Given the description of an element on the screen output the (x, y) to click on. 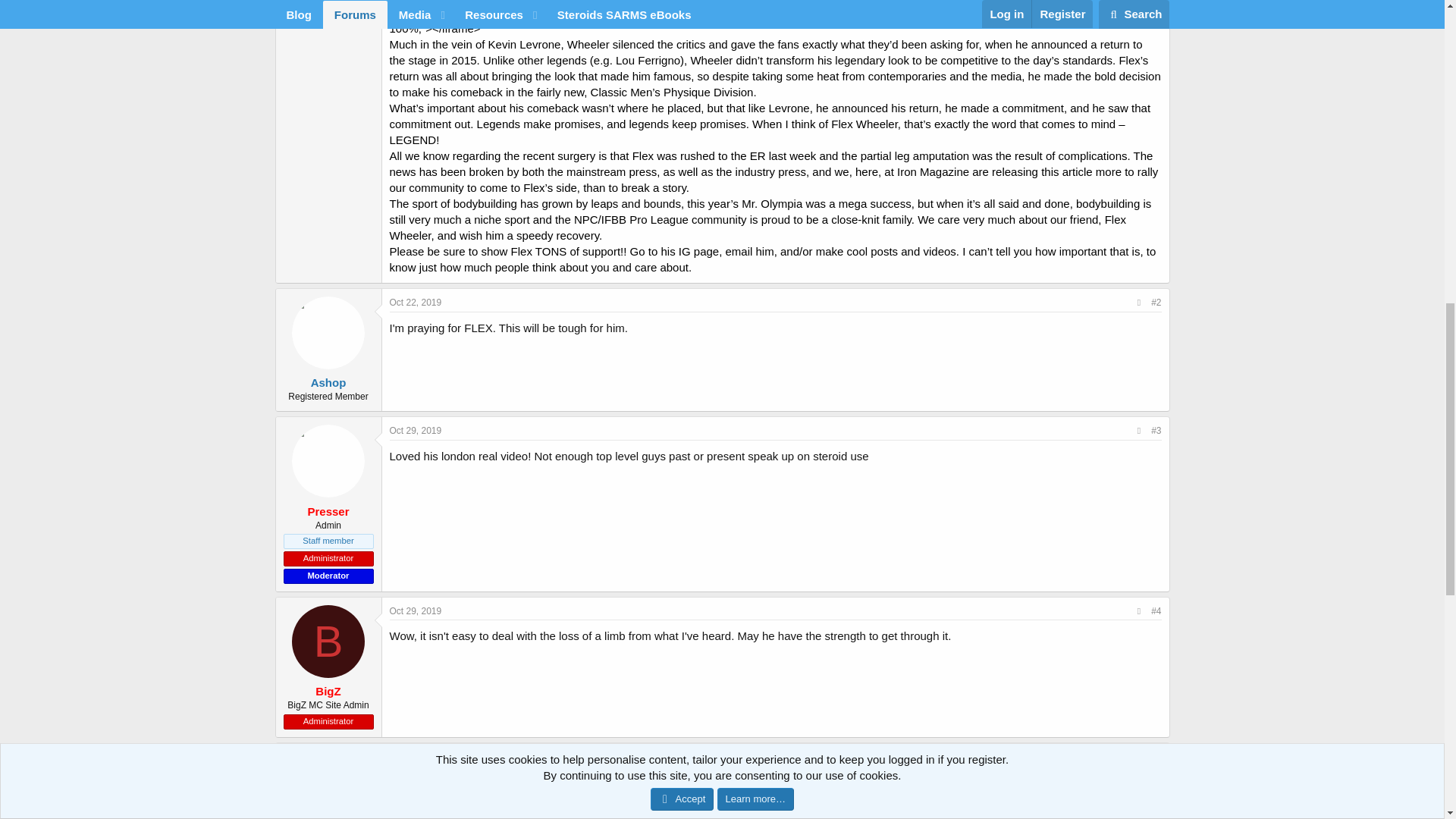
Nov 6, 2019 at 8:58 AM (414, 756)
Oct 29, 2019 at 8:47 AM (416, 430)
Oct 29, 2019 at 10:19 AM (416, 611)
Oct 22, 2019 at 6:19 PM (416, 302)
